Given the description of an element on the screen output the (x, y) to click on. 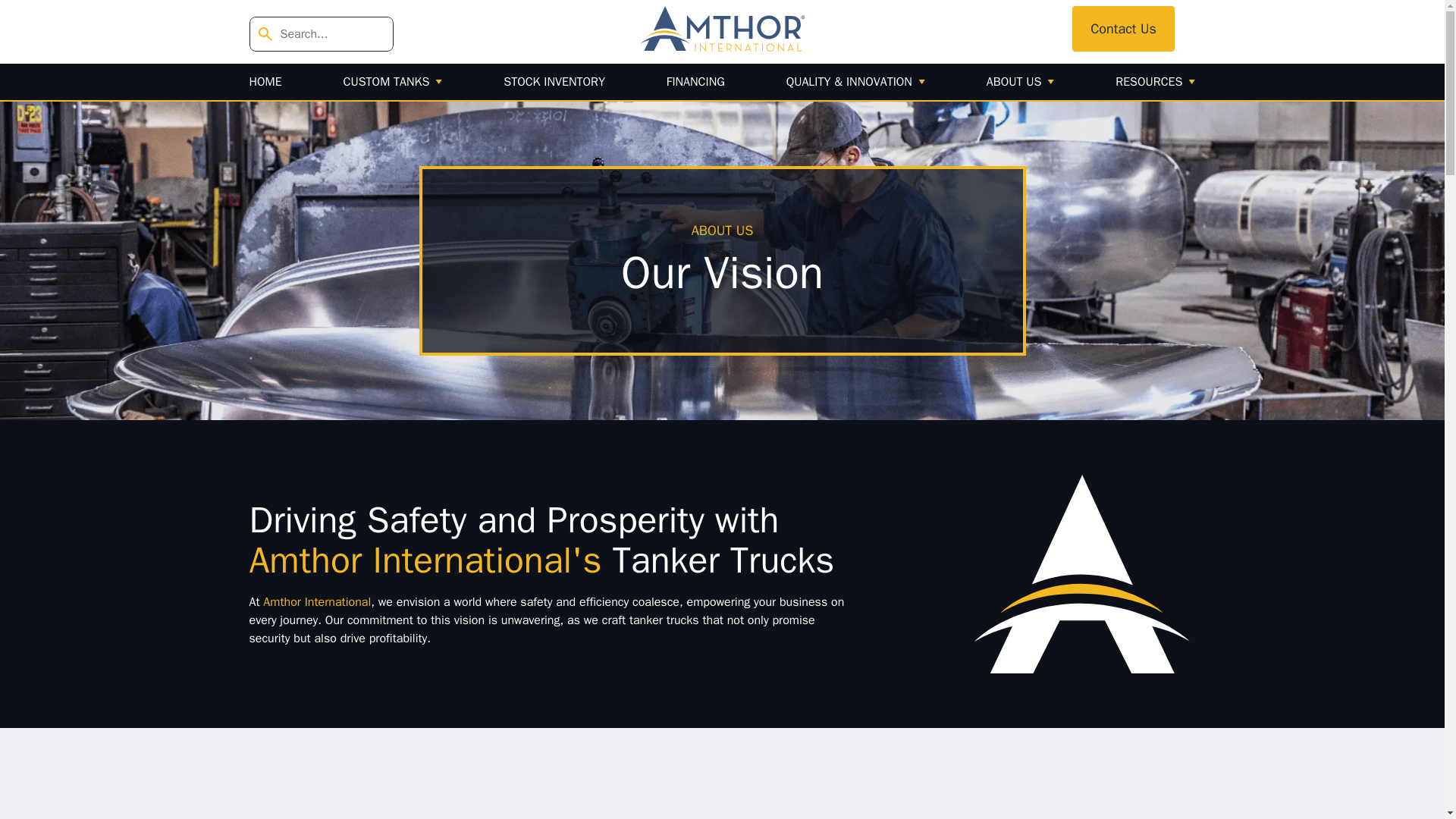
STOCK INVENTORY (554, 81)
HOME (264, 81)
RESOURCES (1155, 81)
Contact Us (1122, 28)
FINANCING (695, 81)
ABOUT US (1020, 81)
CUSTOM TANKS (392, 81)
